Given the description of an element on the screen output the (x, y) to click on. 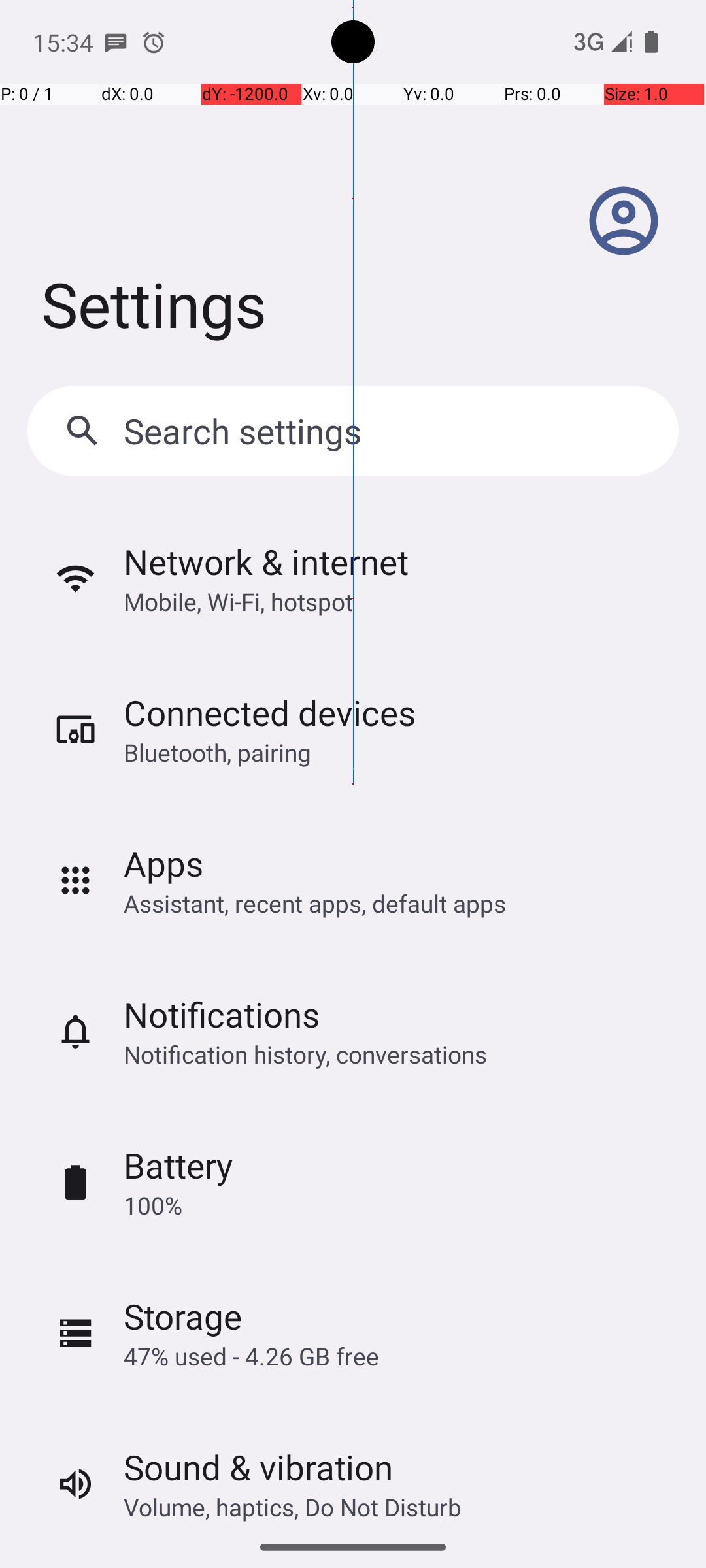
47% used - 4.26 GB free Element type: android.widget.TextView (251, 1355)
